Given the description of an element on the screen output the (x, y) to click on. 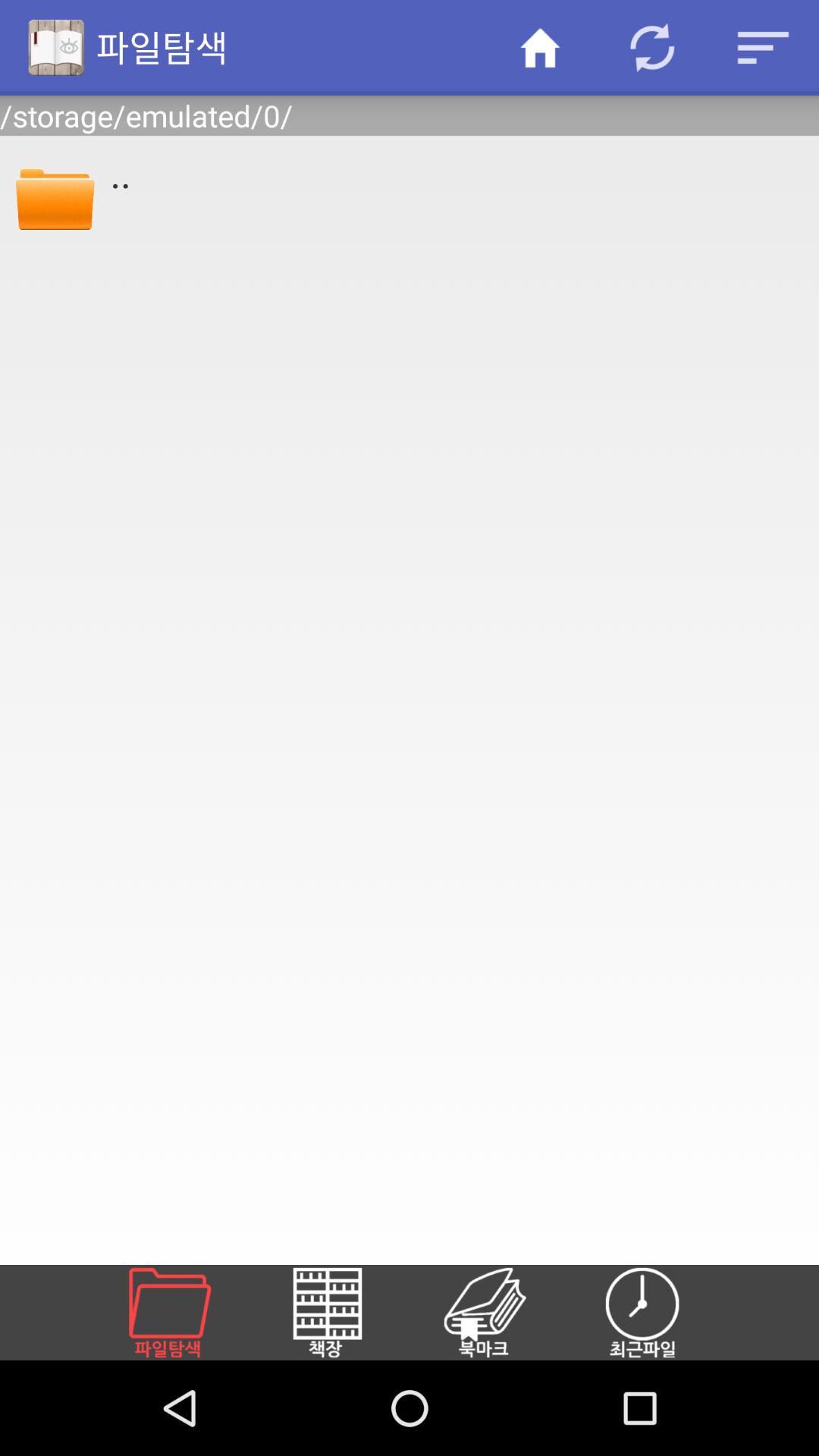
choose item at the bottom right corner (660, 1312)
